Given the description of an element on the screen output the (x, y) to click on. 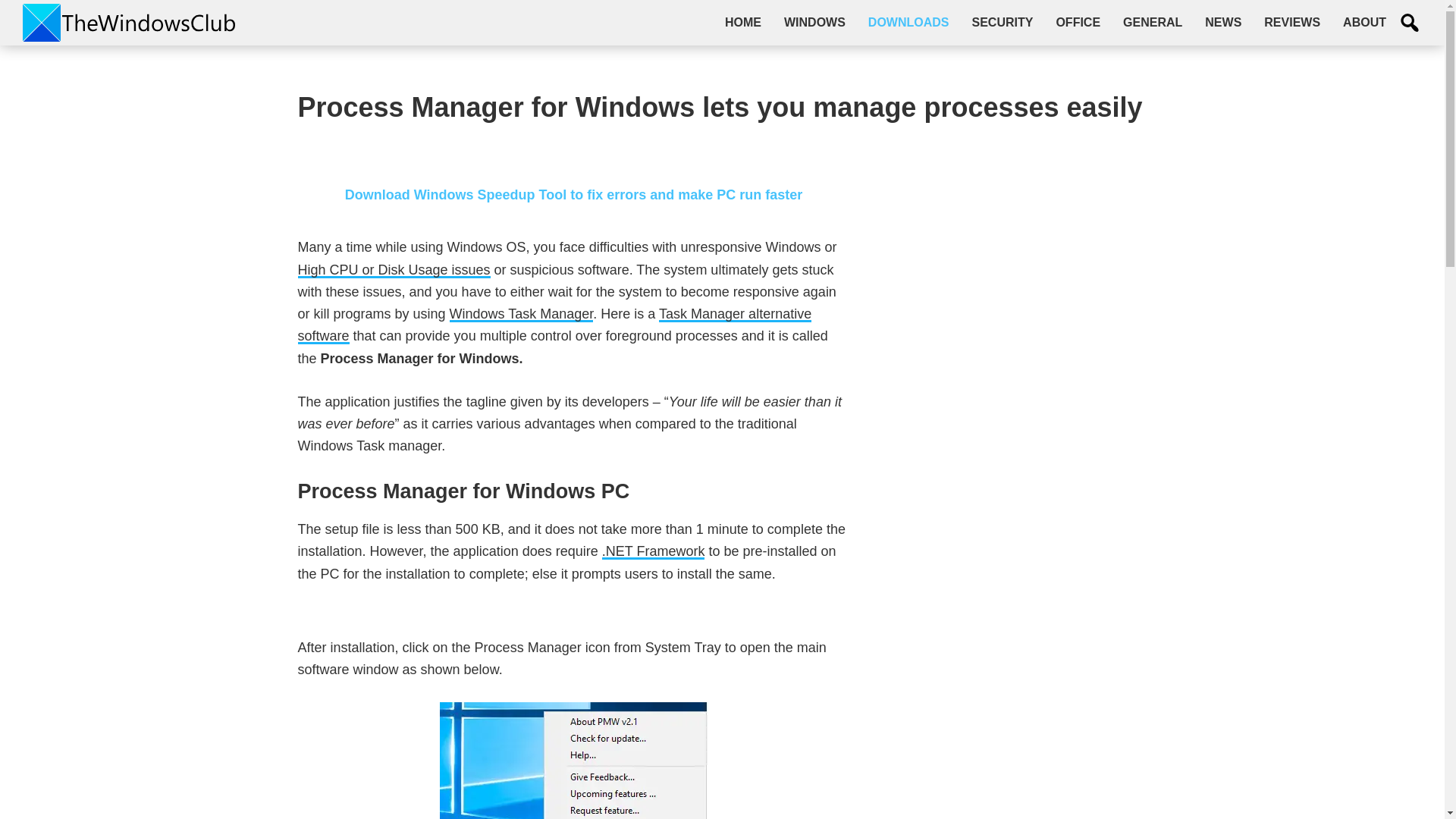
High CPU or Disk Usage issues (393, 270)
Process Manager for Windows (573, 760)
HOME (743, 22)
.NET Framework (653, 551)
ABOUT (1364, 22)
REVIEWS (1292, 22)
Show Search (1409, 22)
DOWNLOADS (908, 22)
OFFICE (1077, 22)
